Given the description of an element on the screen output the (x, y) to click on. 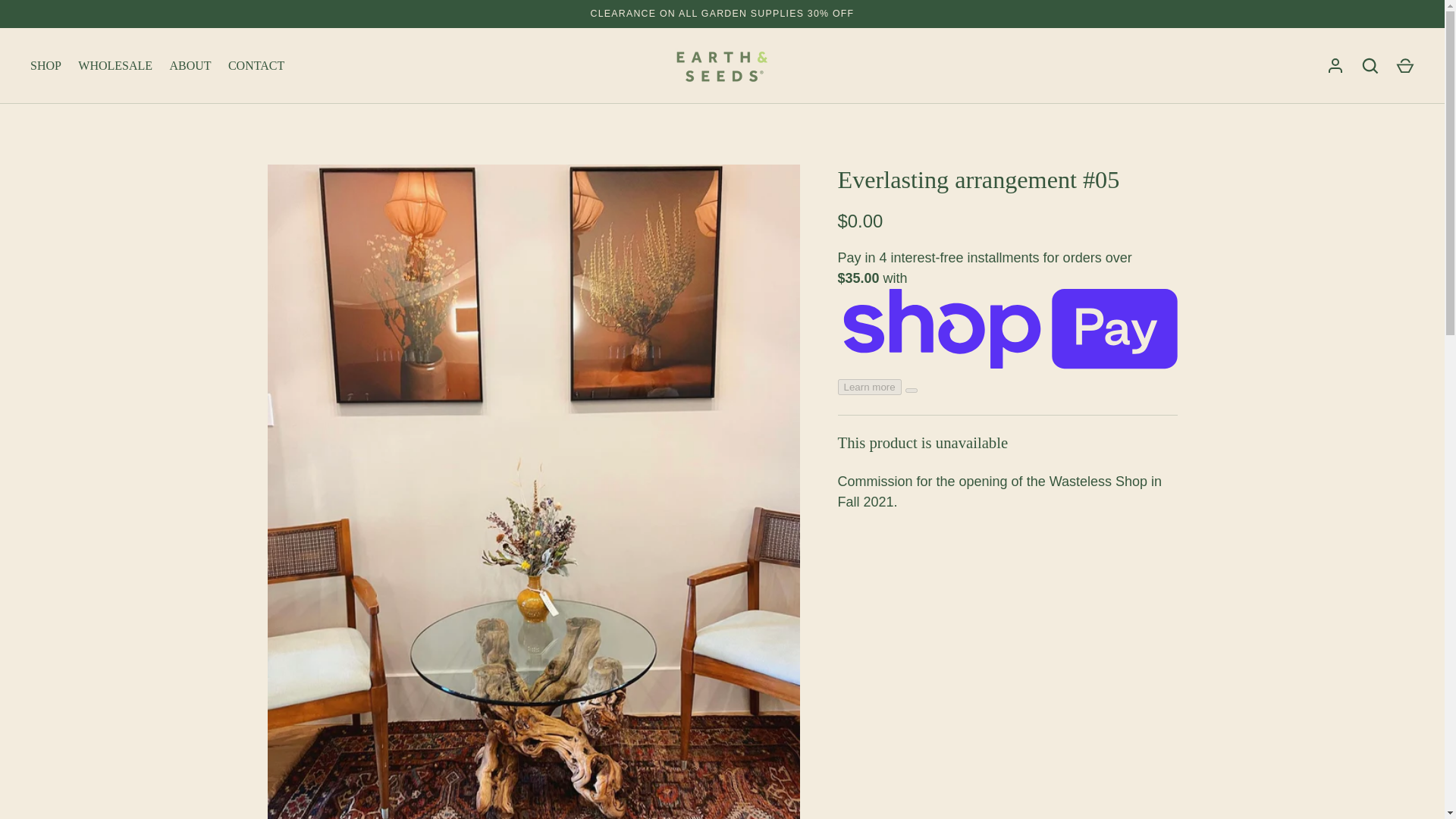
SHOP (45, 65)
WHOLESALE (114, 65)
ABOUT (189, 65)
CONTACT (256, 65)
